Given the description of an element on the screen output the (x, y) to click on. 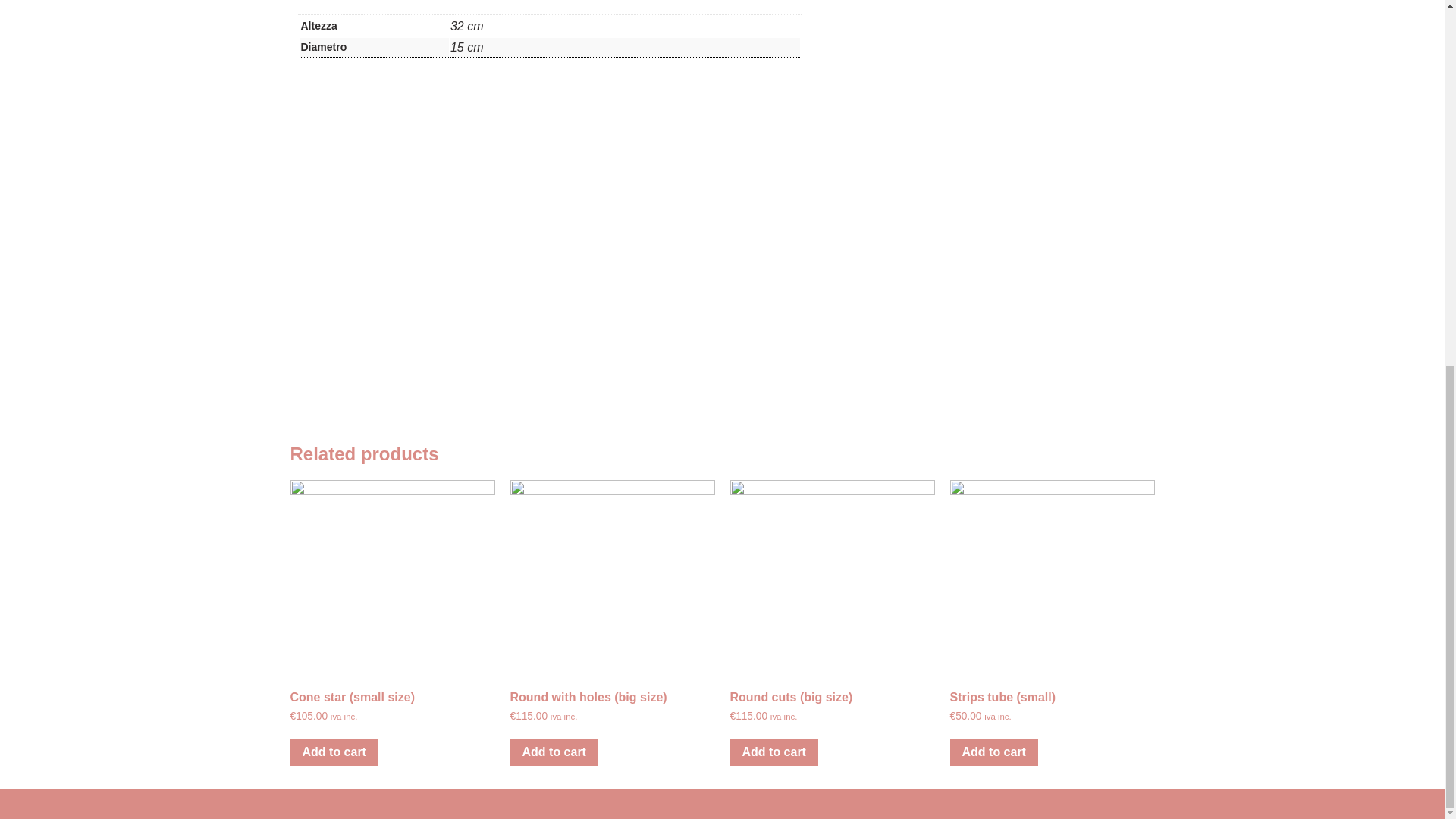
Add to cart (333, 752)
Add to cart (992, 752)
Add to cart (772, 752)
Add to cart (552, 752)
